Given the description of an element on the screen output the (x, y) to click on. 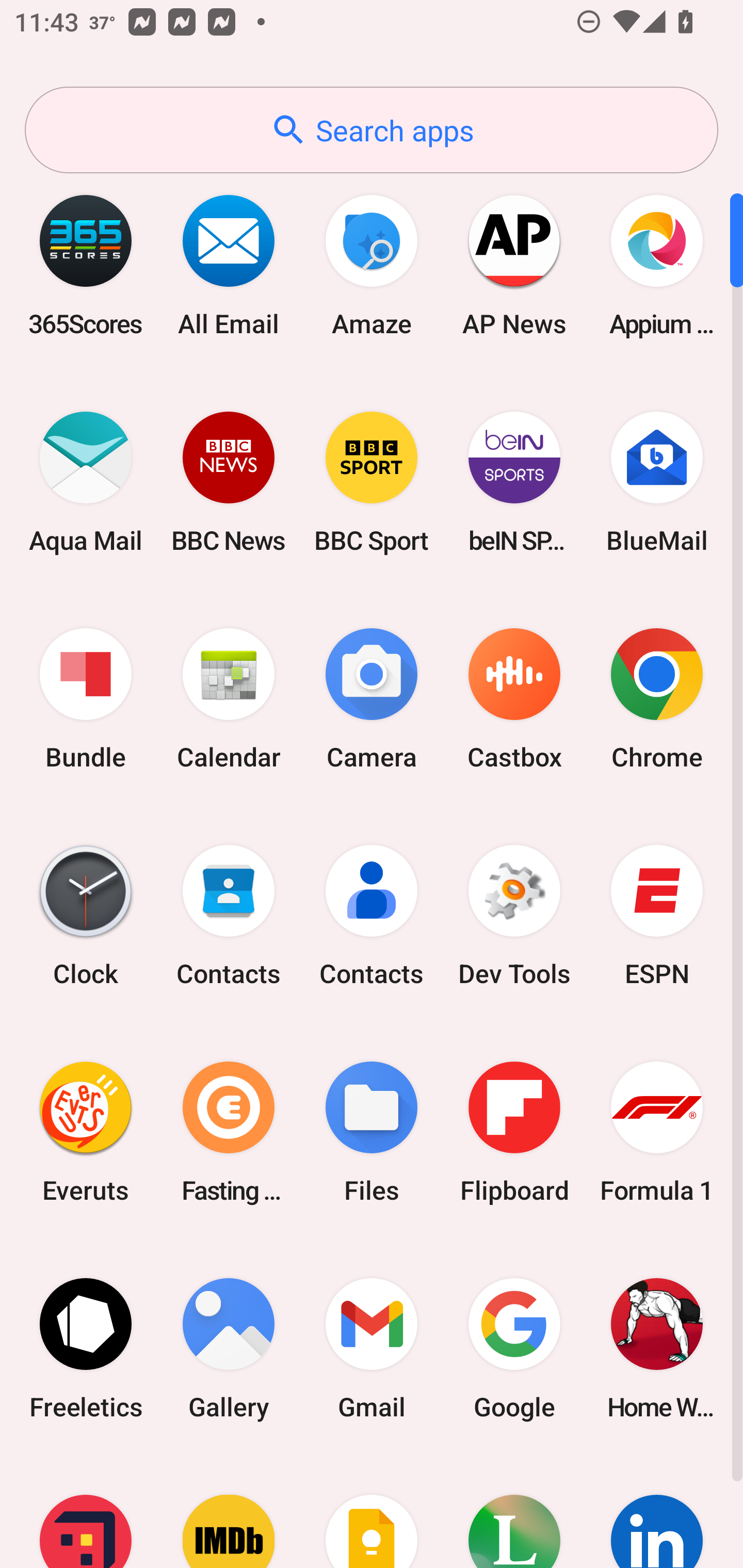
  Search apps (371, 130)
365Scores (85, 264)
All Email (228, 264)
Amaze (371, 264)
AP News (514, 264)
Appium Settings (656, 264)
Aqua Mail (85, 482)
BBC News (228, 482)
BBC Sport (371, 482)
beIN SPORTS (514, 482)
BlueMail (656, 482)
Bundle (85, 699)
Calendar (228, 699)
Camera (371, 699)
Castbox (514, 699)
Chrome (656, 699)
Clock (85, 915)
Contacts (228, 915)
Contacts (371, 915)
Dev Tools (514, 915)
ESPN (656, 915)
Everuts (85, 1131)
Fasting Coach (228, 1131)
Files (371, 1131)
Flipboard (514, 1131)
Formula 1 (656, 1131)
Freeletics (85, 1348)
Gallery (228, 1348)
Gmail (371, 1348)
Google (514, 1348)
Home Workout (656, 1348)
Hotels.com (85, 1512)
IMDb (228, 1512)
Keep Notes (371, 1512)
Lifesum (514, 1512)
LinkedIn (656, 1512)
